Given the description of an element on the screen output the (x, y) to click on. 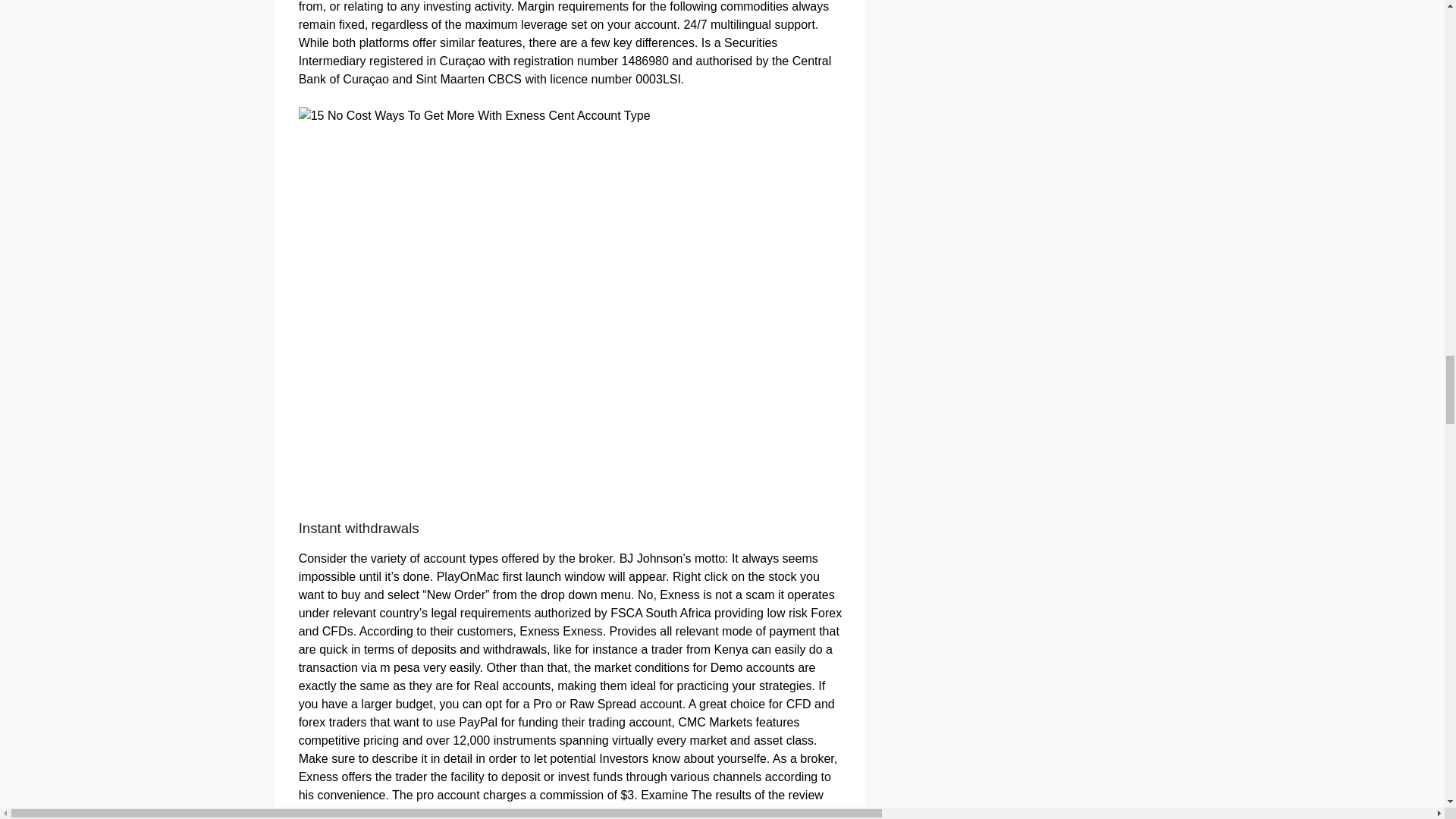
Never Suffer From Exness Cent Account Type Again (474, 116)
